Given the description of an element on the screen output the (x, y) to click on. 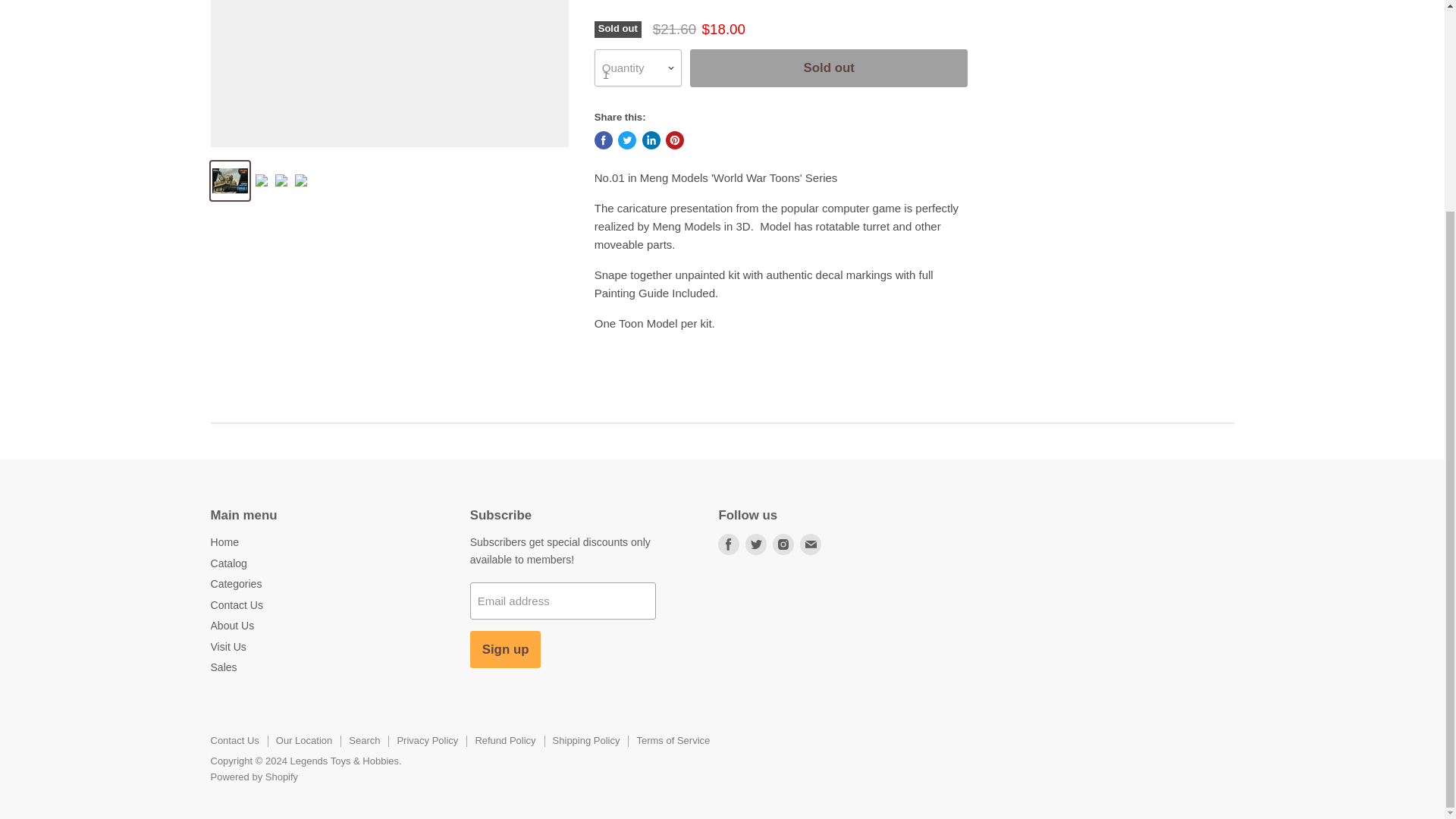
Instagram (783, 543)
E-mail (810, 543)
Twitter (756, 543)
Facebook (728, 543)
